Given the description of an element on the screen output the (x, y) to click on. 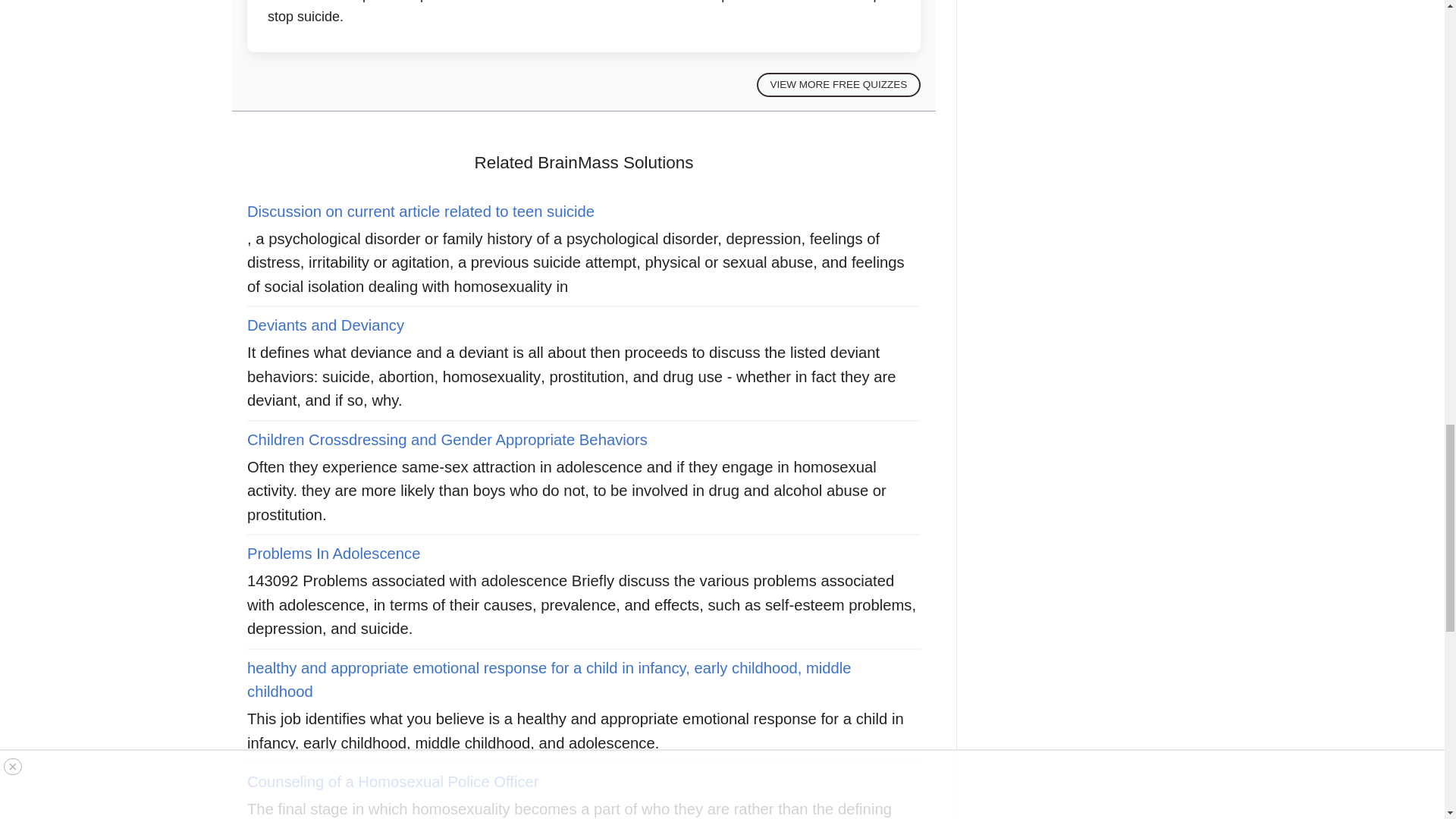
VIEW MORE FREE QUIZZES (838, 84)
